Given the description of an element on the screen output the (x, y) to click on. 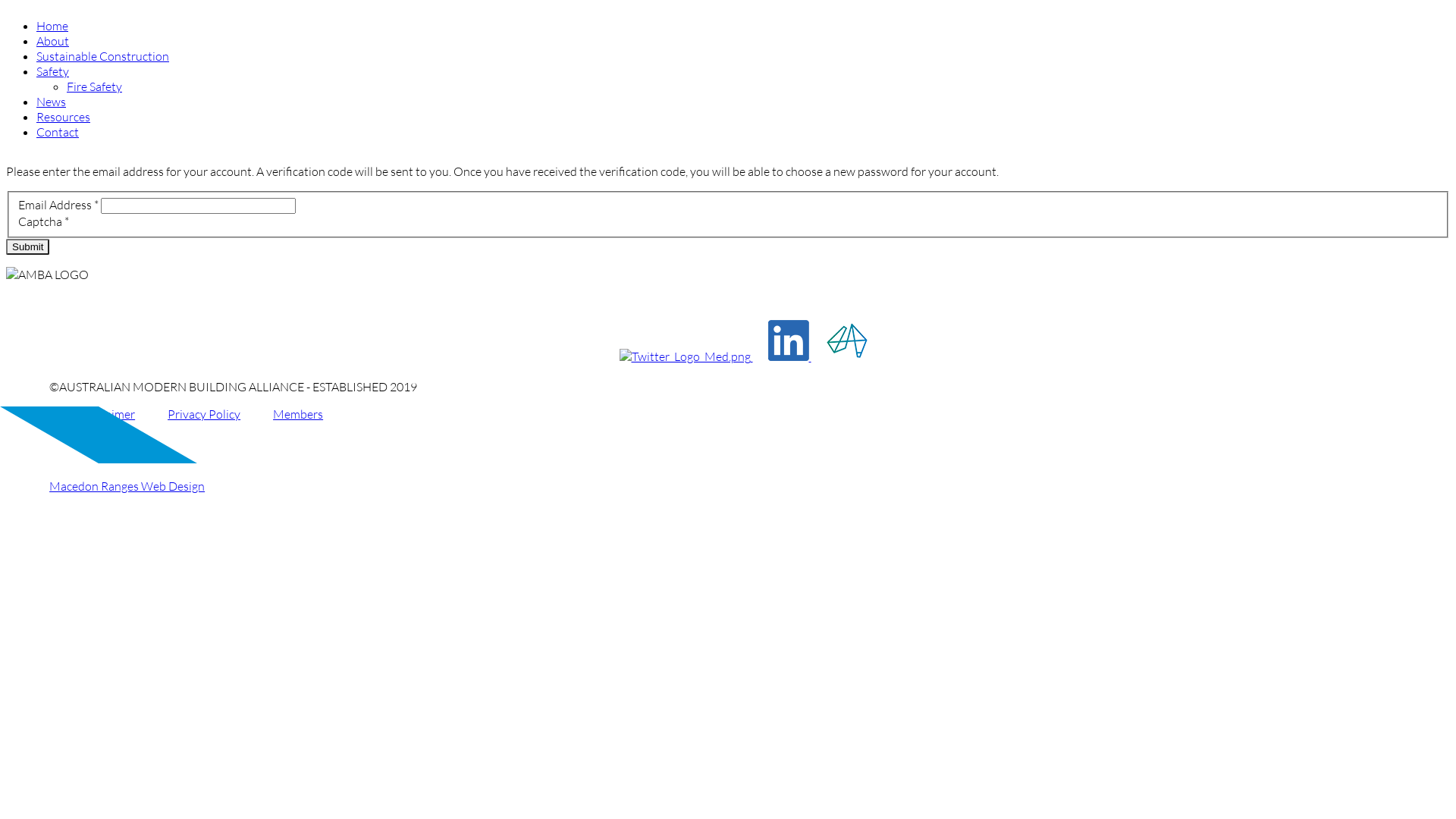
Contact Element type: text (57, 131)
Fire Safety Element type: text (94, 86)
Safety Element type: text (52, 70)
Macedon Ranges Web Design Element type: text (126, 485)
LI-In-Med.png Element type: hover (787, 340)
About Element type: text (52, 40)
Privacy Policy Element type: text (203, 413)
Twitter_Logo_Med.png Element type: hover (683, 356)
Members Element type: text (298, 413)
Submit Element type: text (27, 246)
Home Element type: text (52, 25)
Disclaimer Element type: text (106, 413)
CA__Icon.png Element type: hover (846, 340)
News Element type: text (50, 101)
Resources Element type: text (63, 116)
Sustainable Construction Element type: text (102, 55)
